Given the description of an element on the screen output the (x, y) to click on. 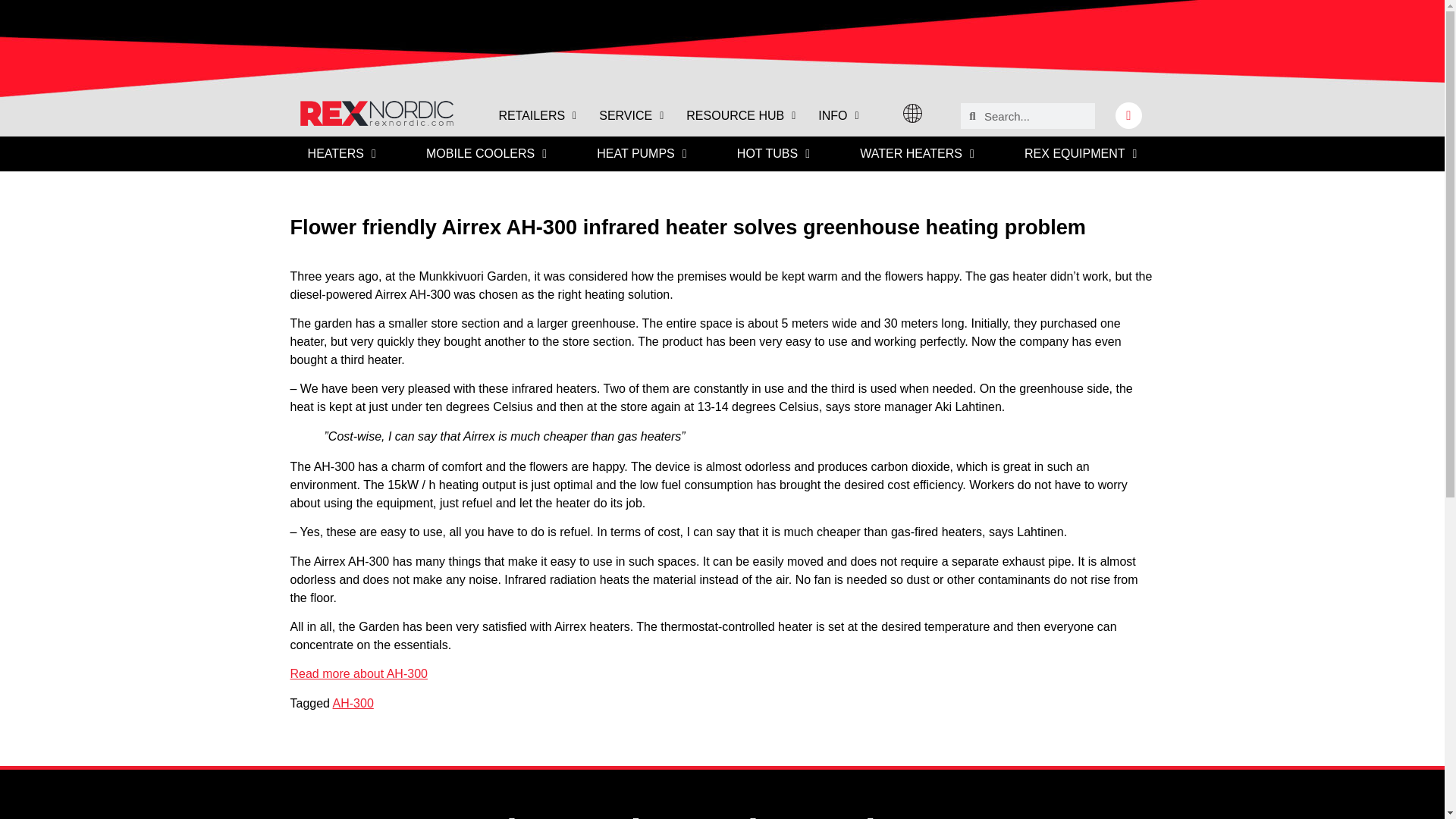
RETAILERS (537, 115)
RESOURCE HUB (740, 115)
SERVICE (631, 115)
MOBILE COOLERS (486, 153)
HEATERS (341, 153)
INFO (837, 115)
